Given the description of an element on the screen output the (x, y) to click on. 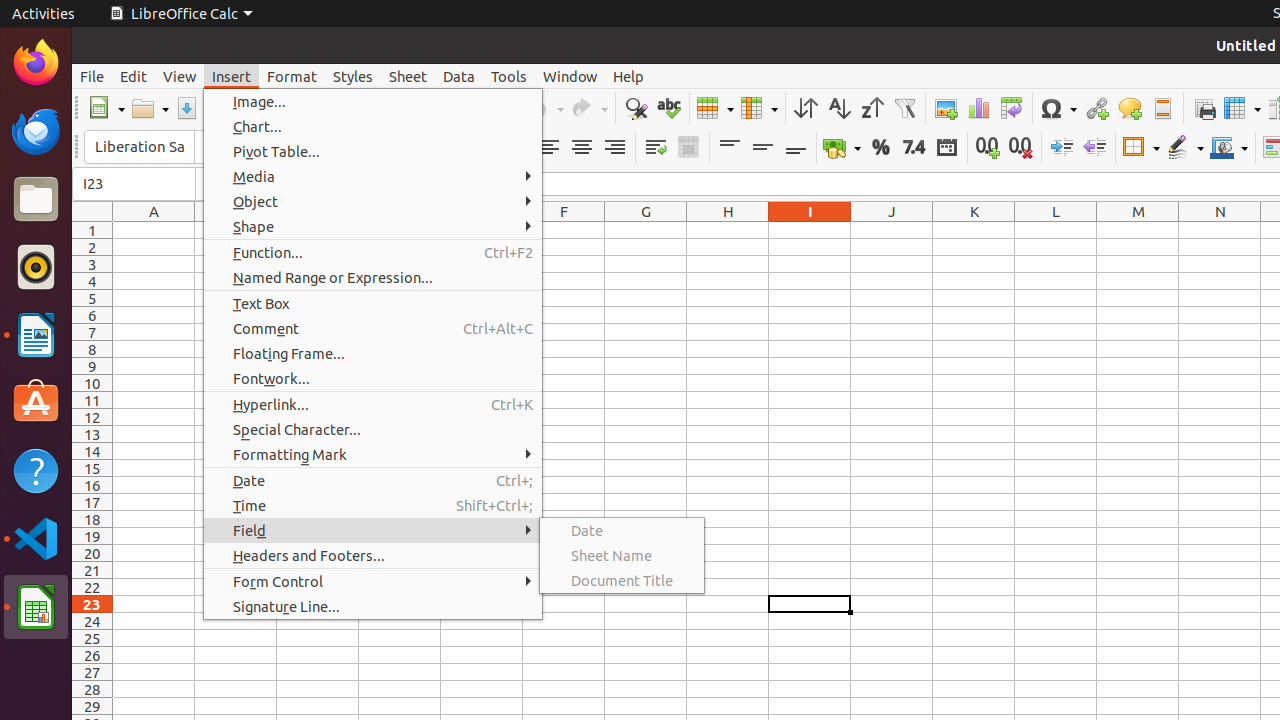
Merge and Center Cells Element type: push-button (688, 147)
Form Control Element type: menu (373, 581)
Borders (Shift to overwrite) Element type: push-button (1141, 147)
Row Element type: push-button (715, 108)
Sort Ascending Element type: push-button (838, 108)
